Given the description of an element on the screen output the (x, y) to click on. 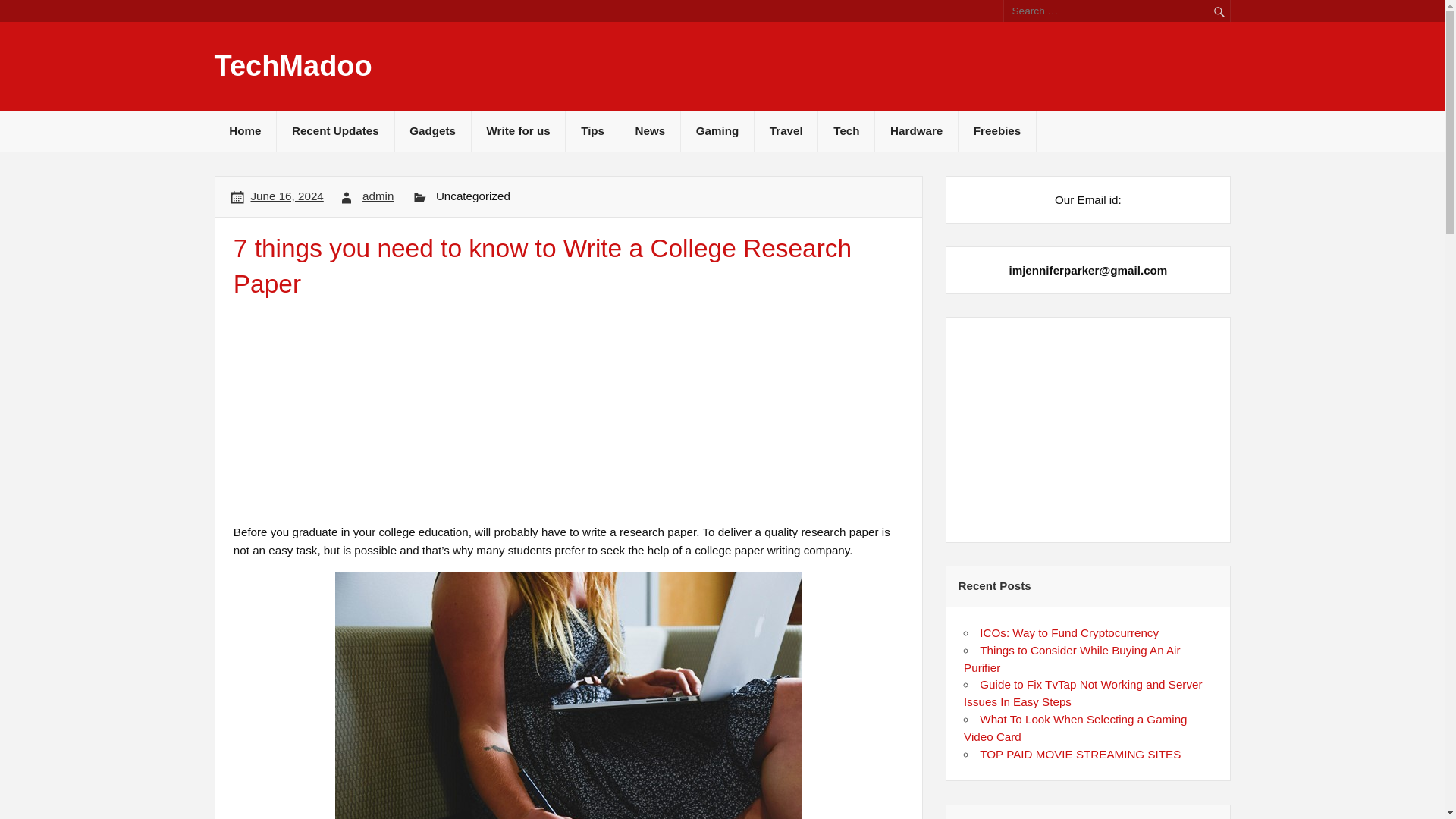
Write for us (518, 131)
Gadgets (432, 131)
Freebies (996, 131)
Travel (785, 131)
ICOs: Way to Fund Cryptocurrency (1068, 632)
6:38 am (286, 195)
Recent Updates (334, 131)
View all posts by admin (377, 195)
TOP PAID MOVIE STREAMING SITES (1079, 753)
TechMadoo (292, 65)
Advertisement (1087, 429)
Gaming (717, 131)
News (649, 131)
